Given the description of an element on the screen output the (x, y) to click on. 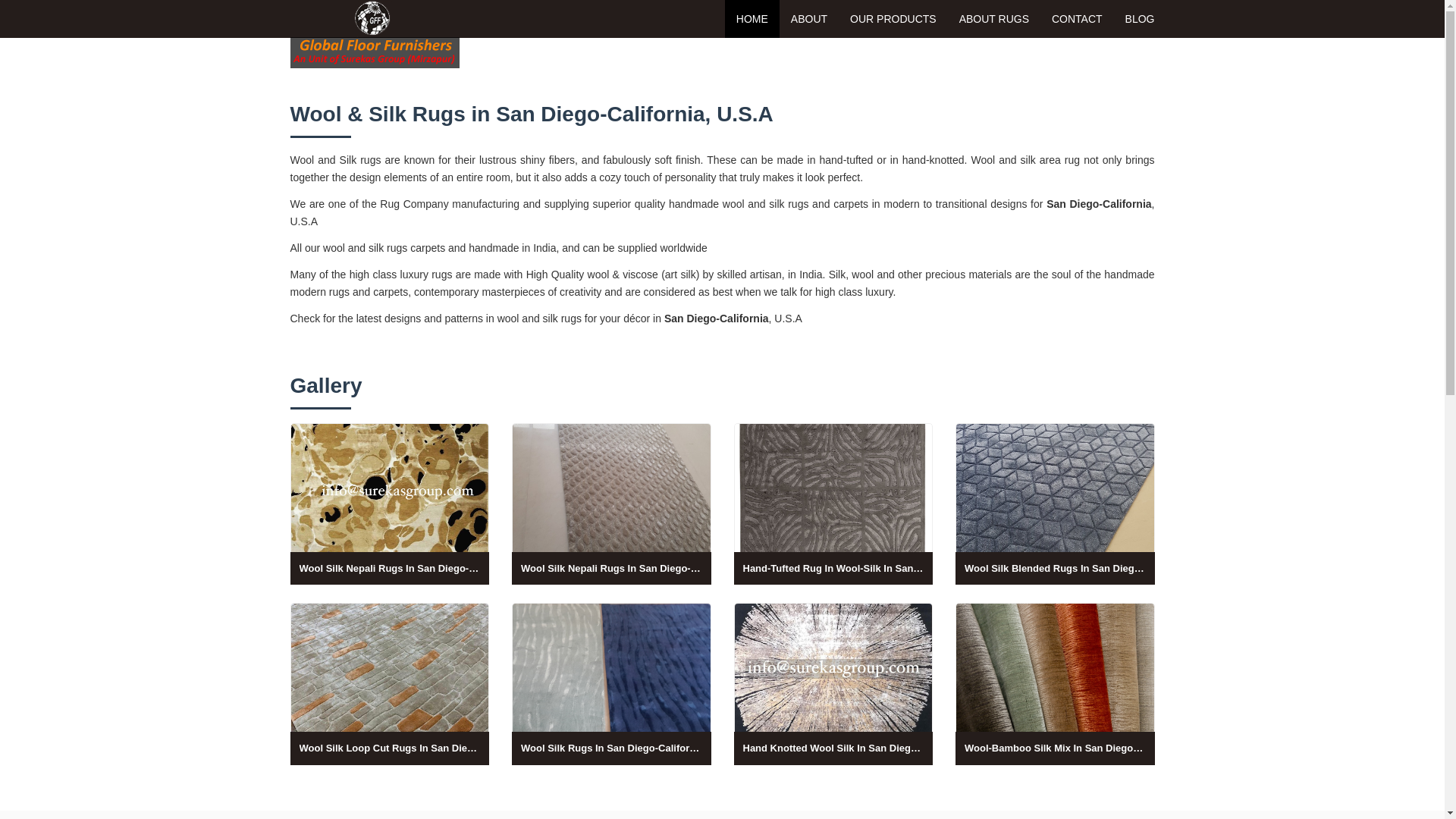
Hand-tufted rug in wool-silk in San Diego-California (833, 504)
ABOUT (808, 18)
Wool Silk Nepali Rugs In San Diego-California (611, 504)
Wool-bamboo silk mix rugs in San Diego-California (1054, 683)
Wool silk blended rugs in San Diego-California (1054, 504)
Wool Silk Rugs In San Diego-California (611, 683)
Wool silk nepali rugs in San Diego-California (389, 504)
Hand-Tufted Rug In Wool-Silk In San Diego-California (833, 504)
BLOG (1139, 18)
ABOUT RUGS (994, 18)
Wool Silk Blended Rugs In San Diego-California (1054, 504)
Wool silk loop cut rugs in San Diego-California (389, 683)
Wool Silk Loop Cut Rugs In San Diego-California (389, 683)
Wool silk rugs in San Diego-California (611, 683)
HOME (751, 18)
